Given the description of an element on the screen output the (x, y) to click on. 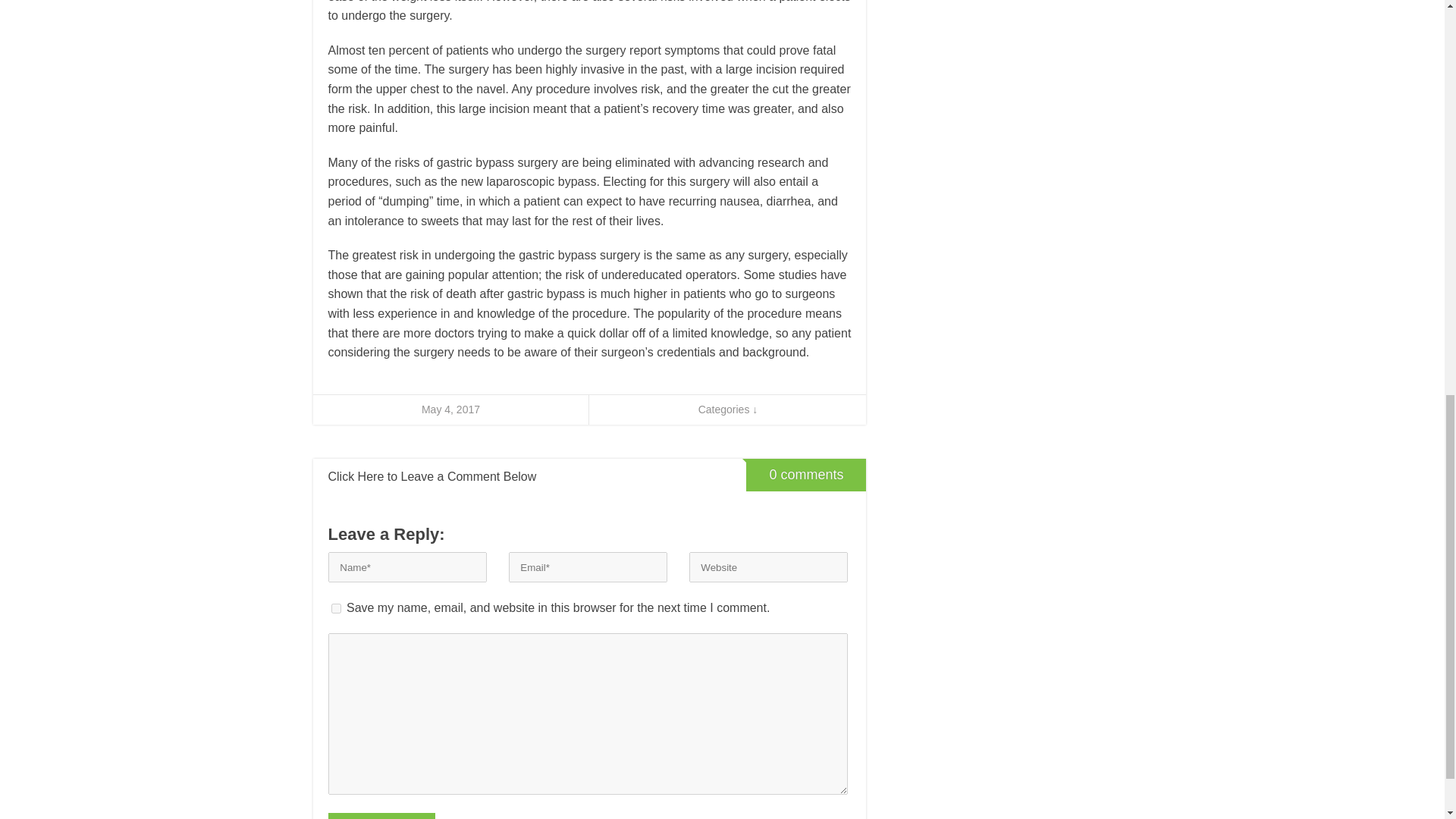
yes (335, 608)
SUBMIT (380, 816)
SUBMIT (380, 816)
